Given the description of an element on the screen output the (x, y) to click on. 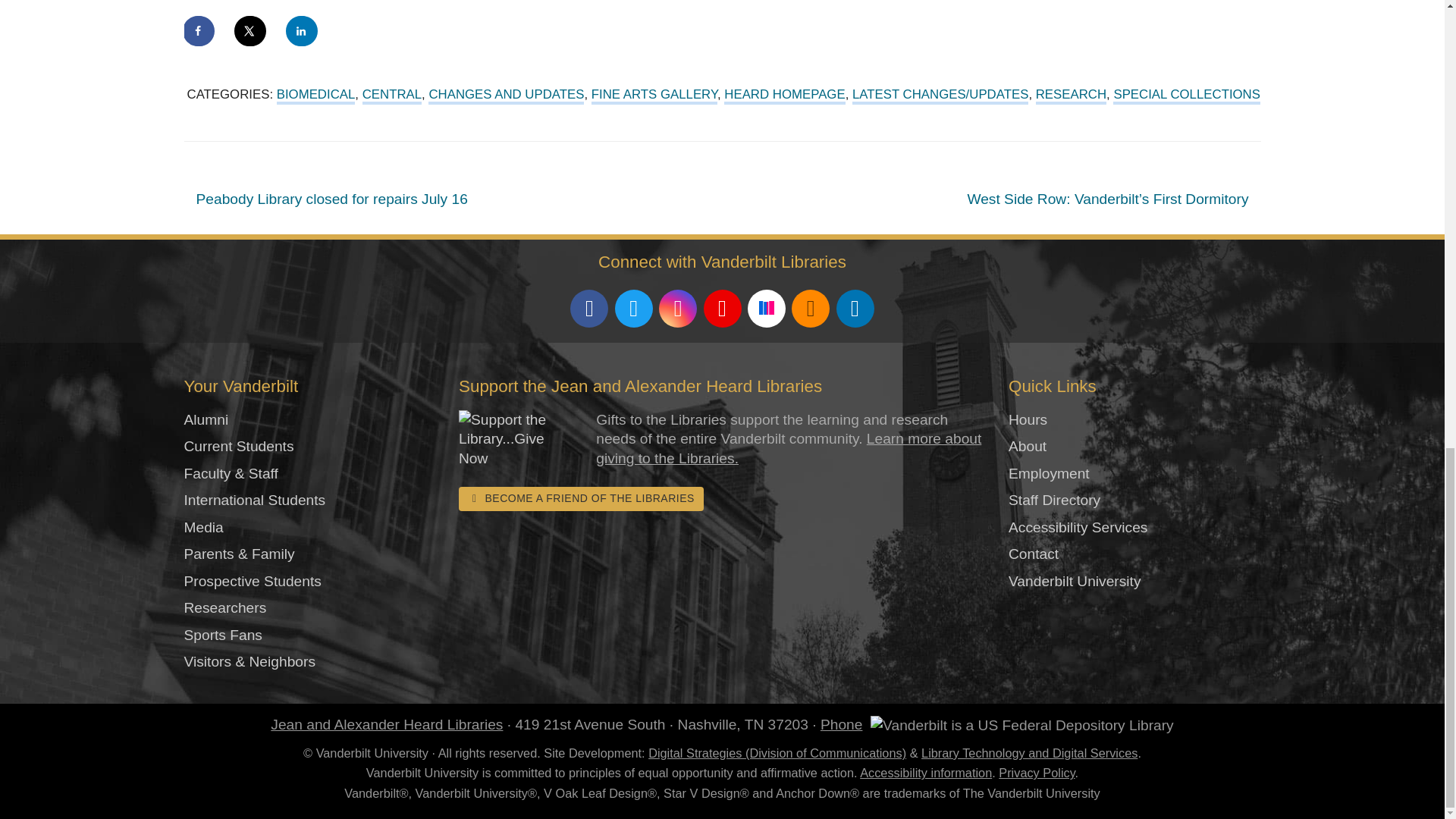
Share on LinkedIn (301, 30)
Share on X (250, 30)
Share on Facebook (198, 30)
